Given the description of an element on the screen output the (x, y) to click on. 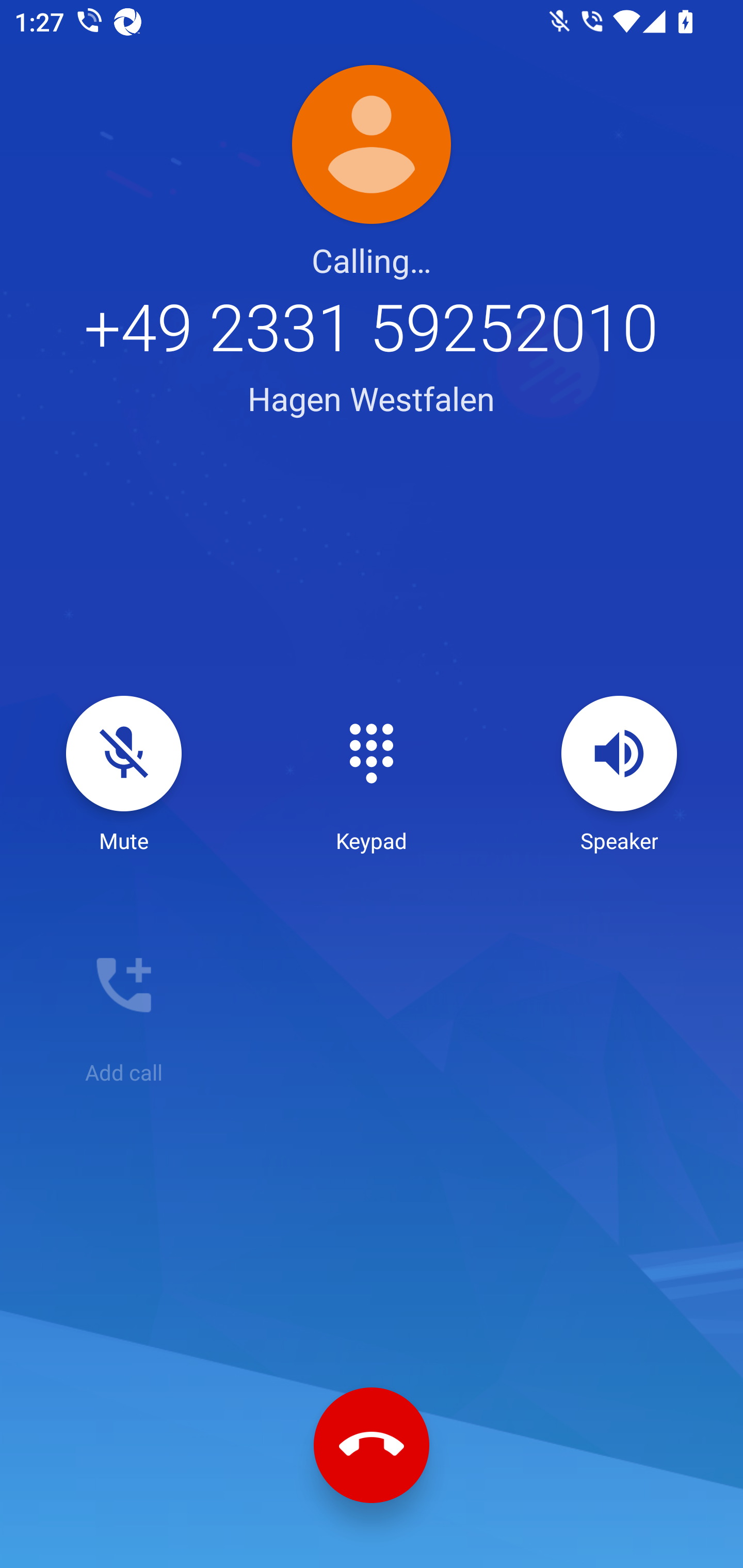
Muted Mute (123, 775)
Keypad (371, 775)
Speaker, is on Speaker (619, 775)
Add call (123, 1007)
End call (371, 1445)
